Given the description of an element on the screen output the (x, y) to click on. 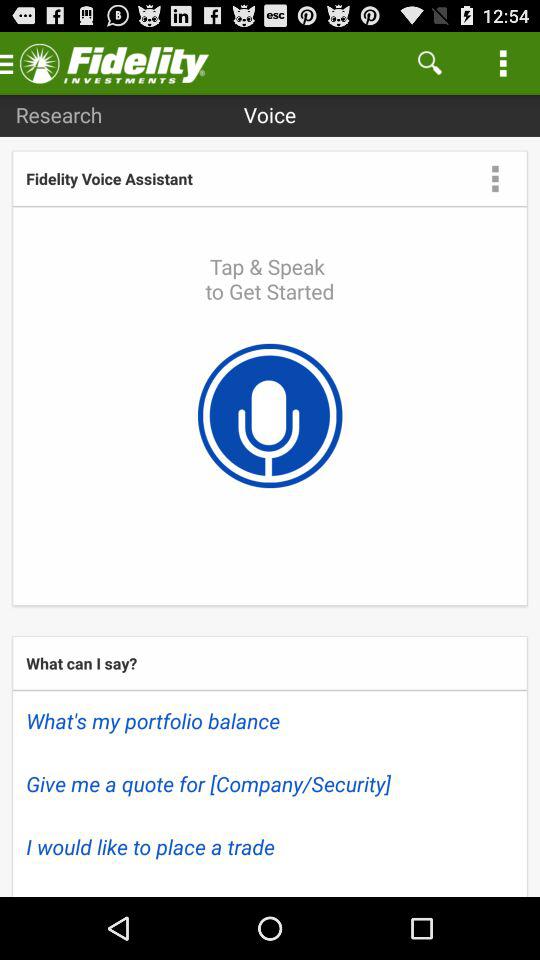
flip until the research (58, 114)
